Given the description of an element on the screen output the (x, y) to click on. 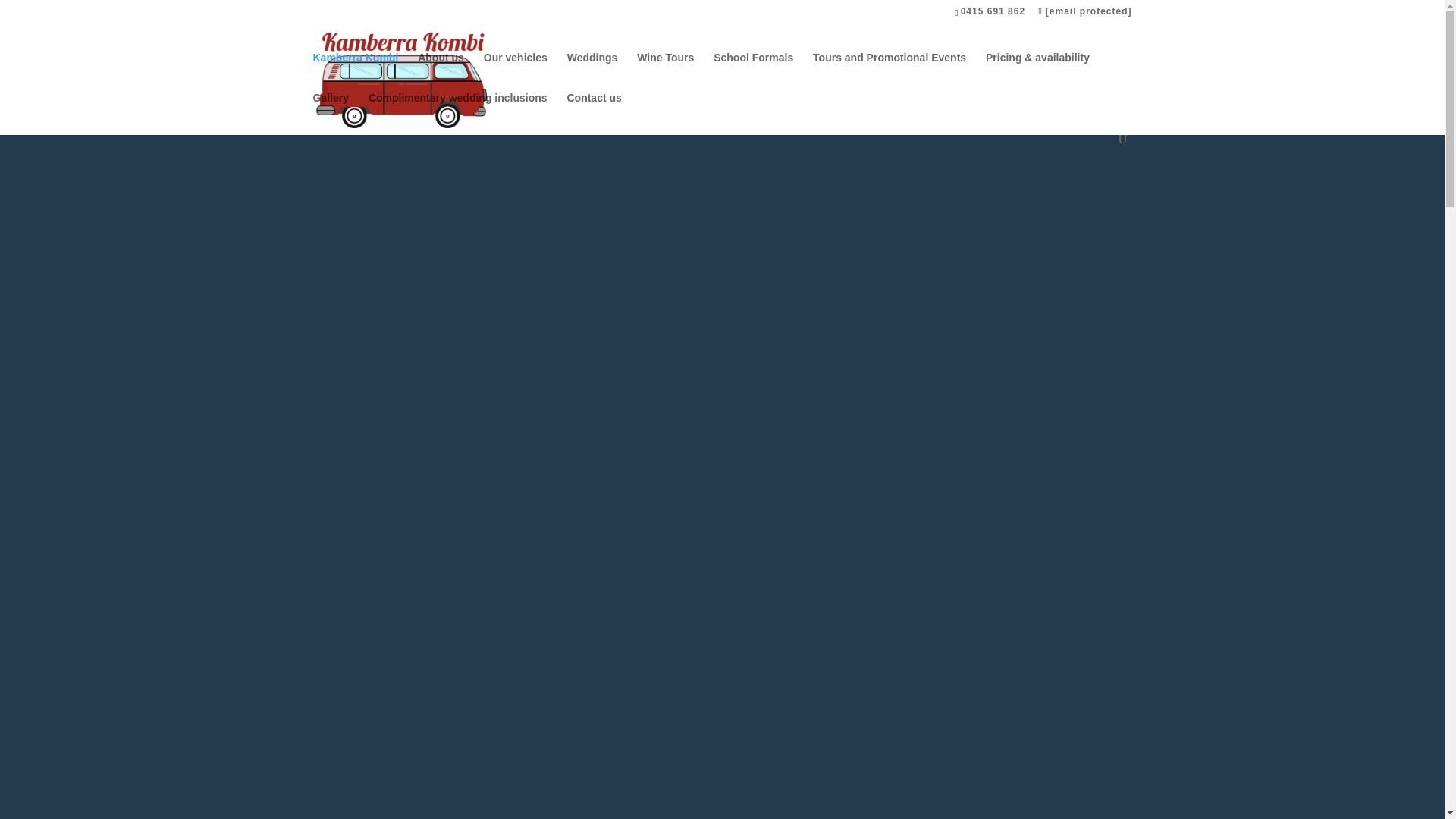
Wine Tours (665, 72)
Complimentary wedding inclusions (457, 112)
Kamberra Kombi (355, 72)
About us (440, 72)
School Formals (753, 72)
Tours and Promotional Events (889, 72)
Contact us (593, 112)
Weddings (592, 72)
Our vehicles (515, 72)
